Given the description of an element on the screen output the (x, y) to click on. 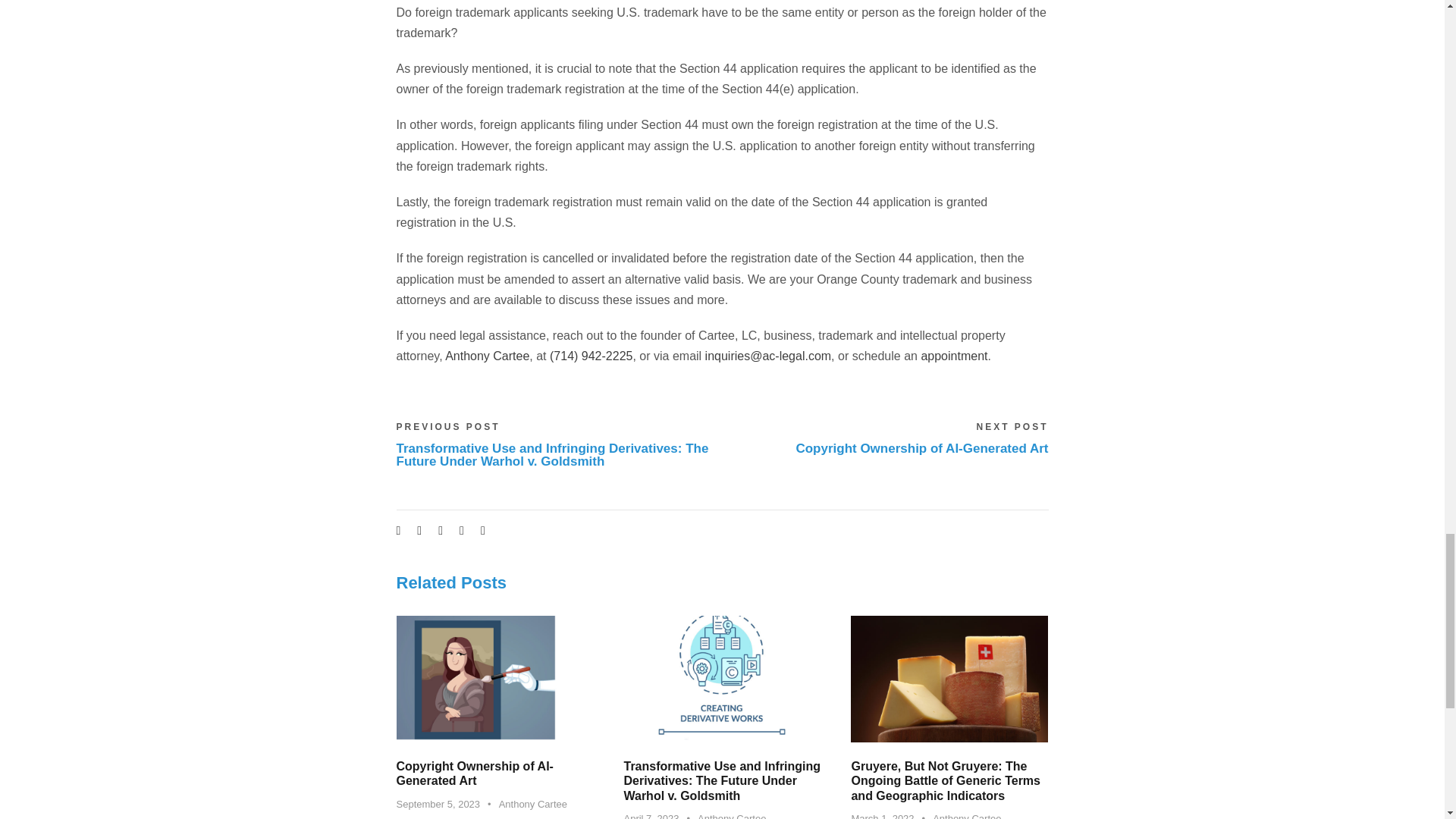
Posts by Anthony Cartee (967, 816)
Posts by Anthony Cartee (731, 816)
Posts by Anthony Cartee (533, 803)
Gruyere and Swiss Cheeses (949, 678)
2023.3.29 IMAGE Updated for blog (722, 678)
